Given the description of an element on the screen output the (x, y) to click on. 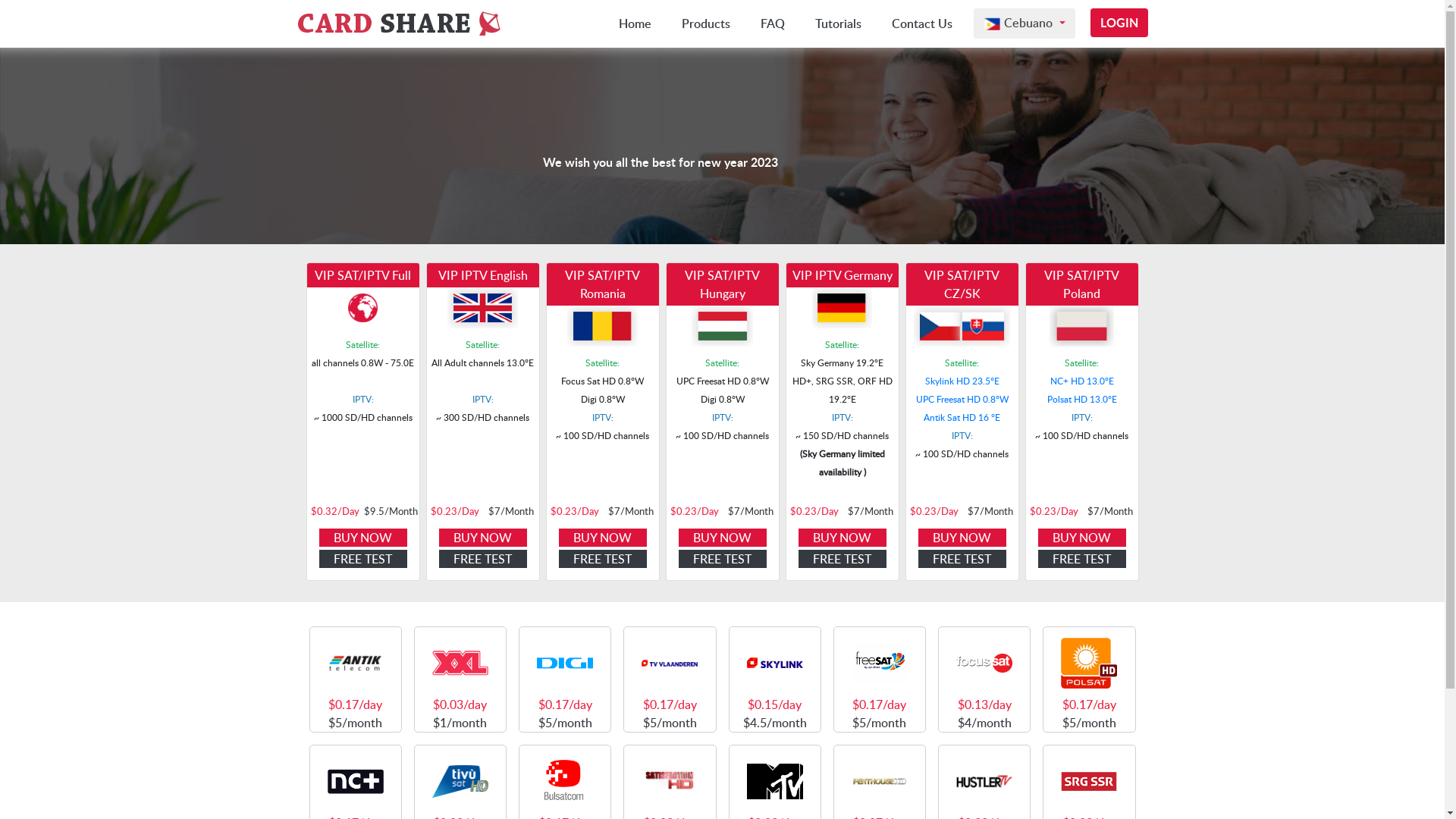
FAQ Element type: text (772, 23)
Tutorials Element type: text (838, 23)
Products Element type: text (705, 23)
LOGIN Element type: text (1119, 22)
Home Element type: text (634, 23)
Contact Us Element type: text (921, 23)
Cebuano Element type: text (1023, 23)
